Given the description of an element on the screen output the (x, y) to click on. 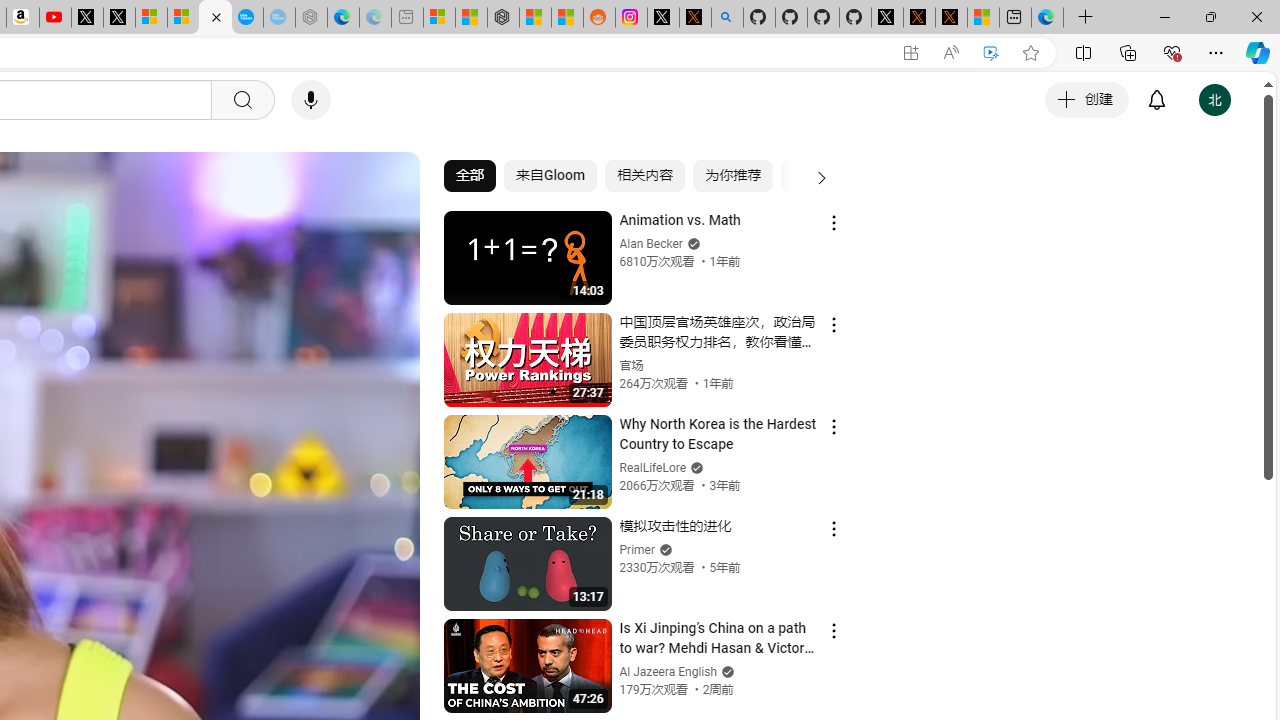
Enhance video (991, 53)
Minimize (1164, 16)
App available. Install YouTube (910, 53)
Collections (1128, 52)
